Given the description of an element on the screen output the (x, y) to click on. 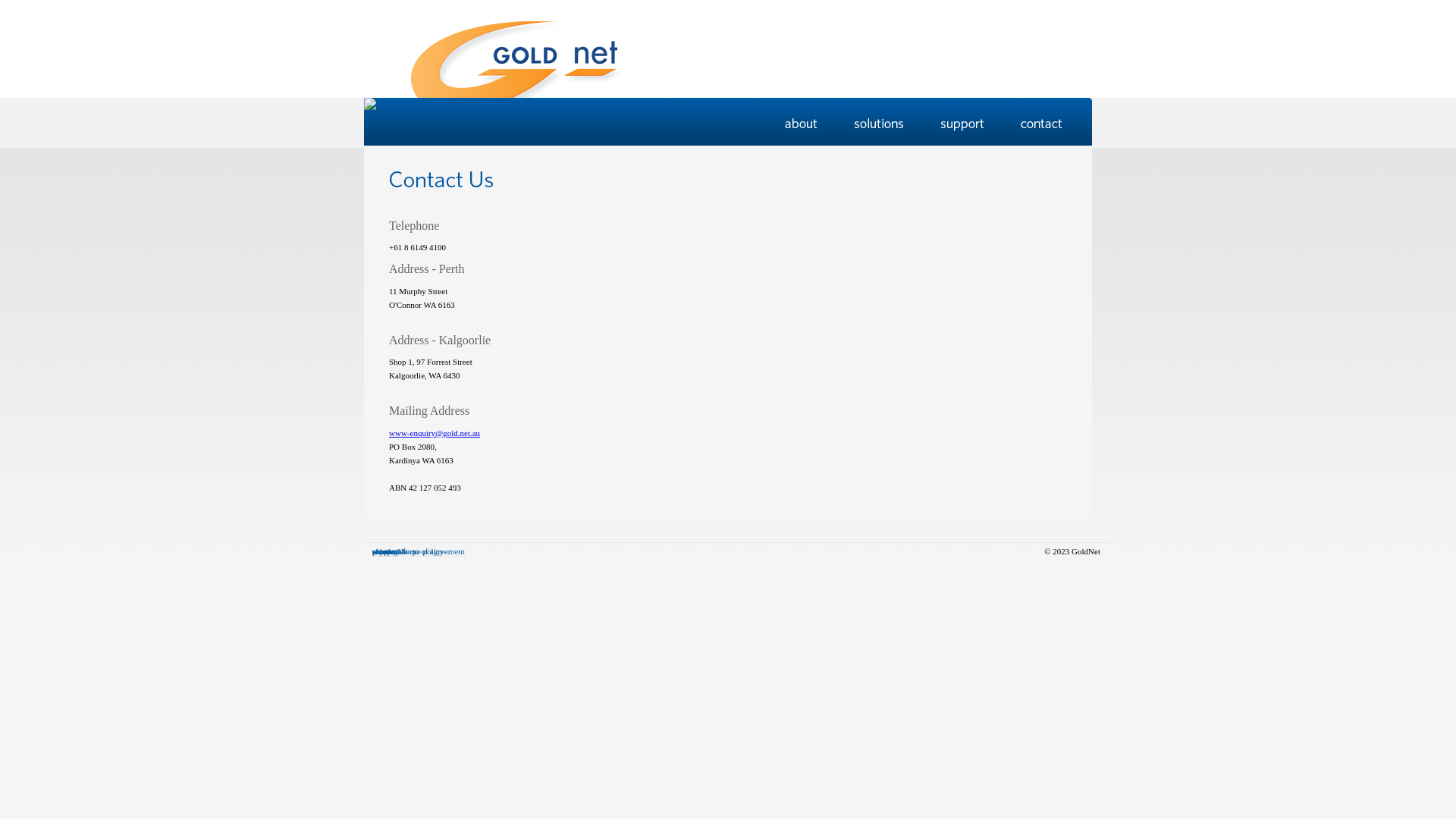
contact Element type: text (384, 551)
photo gallery Element type: text (394, 551)
www-enquiry@gold.net.au Element type: text (434, 432)
acceptable use policy Element type: text (407, 551)
solutions Element type: text (387, 551)
about Element type: text (381, 551)
support Element type: text (384, 551)
standard form of agreement Element type: text (418, 551)
